Given the description of an element on the screen output the (x, y) to click on. 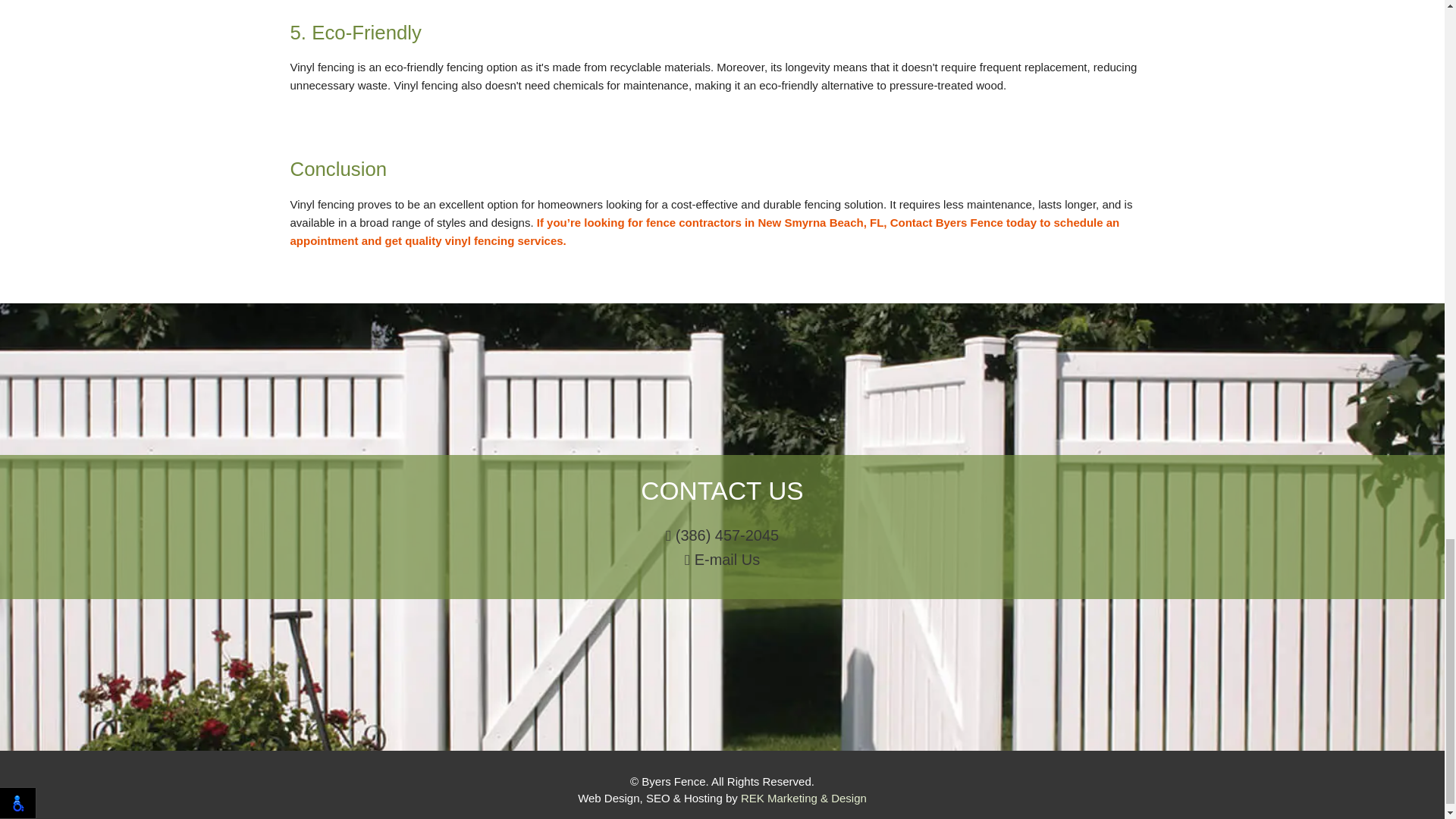
E-mail Us (721, 560)
